Given the description of an element on the screen output the (x, y) to click on. 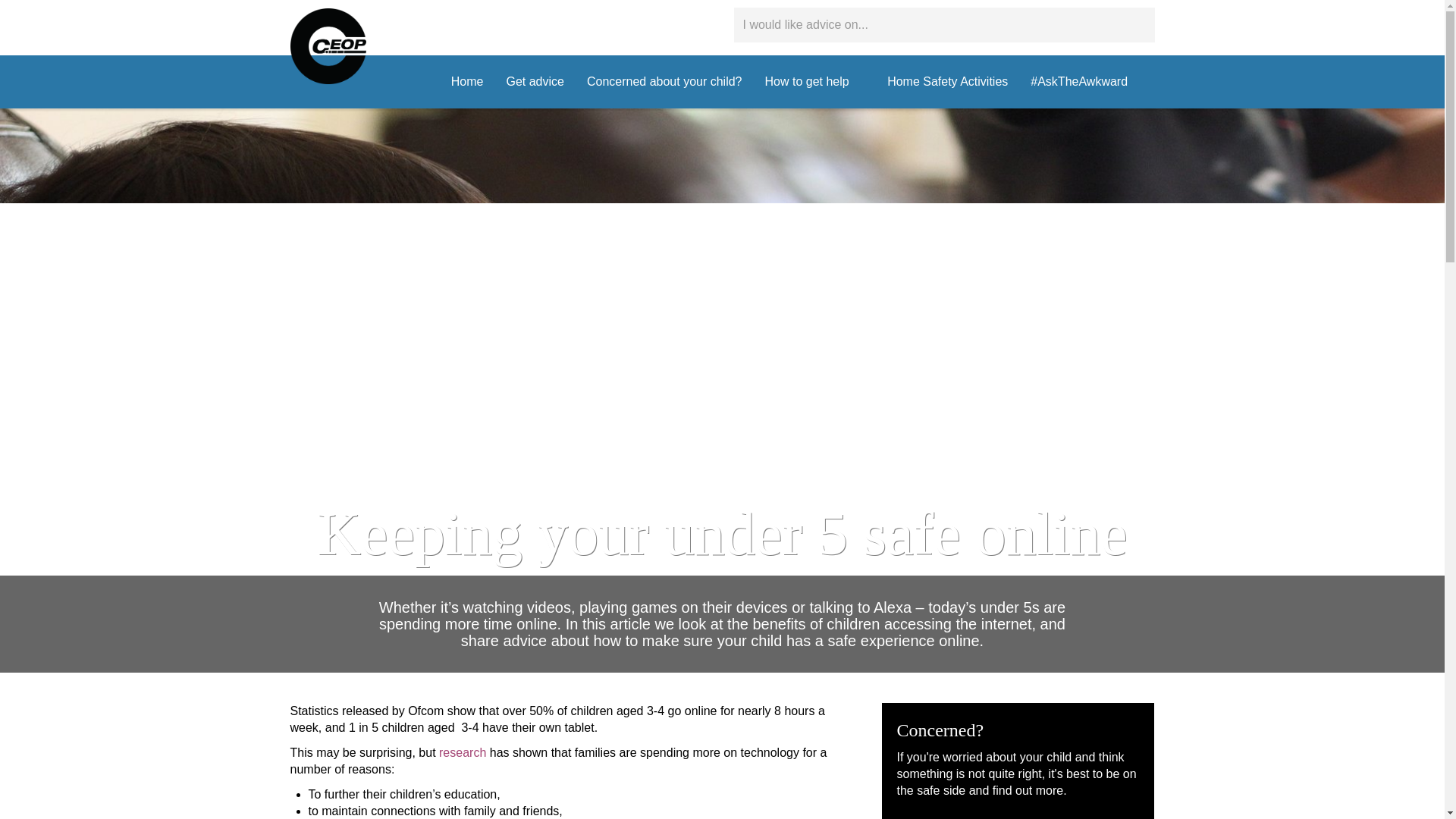
Home (467, 81)
How to get help (815, 81)
Concerned about your child? (664, 81)
research (462, 752)
Home Safety Activities (947, 81)
Get advice (535, 81)
